Given the description of an element on the screen output the (x, y) to click on. 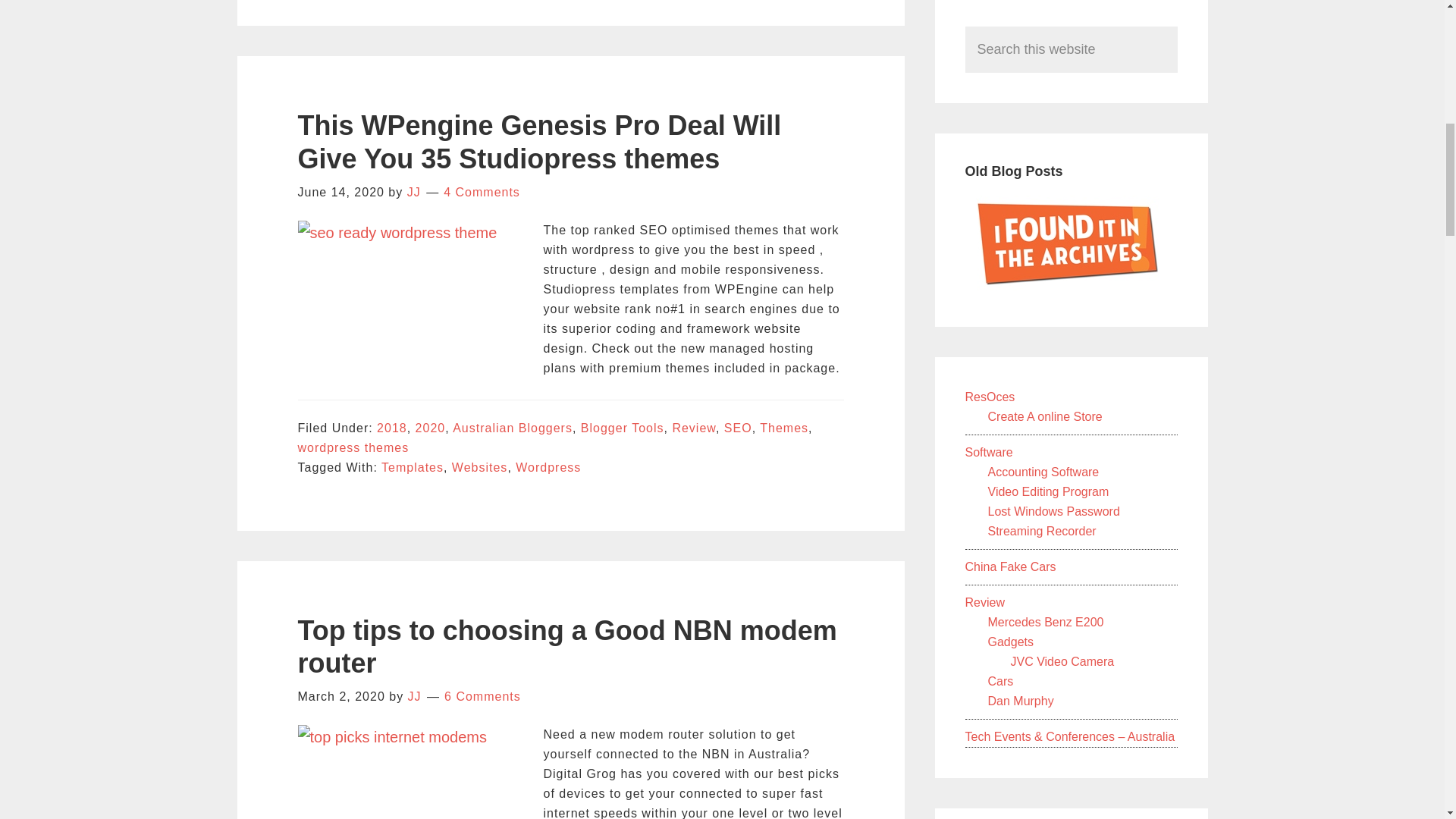
4 Comments (481, 192)
Blog Resources (988, 396)
JJ (413, 192)
Steps to create an online shop (1044, 416)
